Given the description of an element on the screen output the (x, y) to click on. 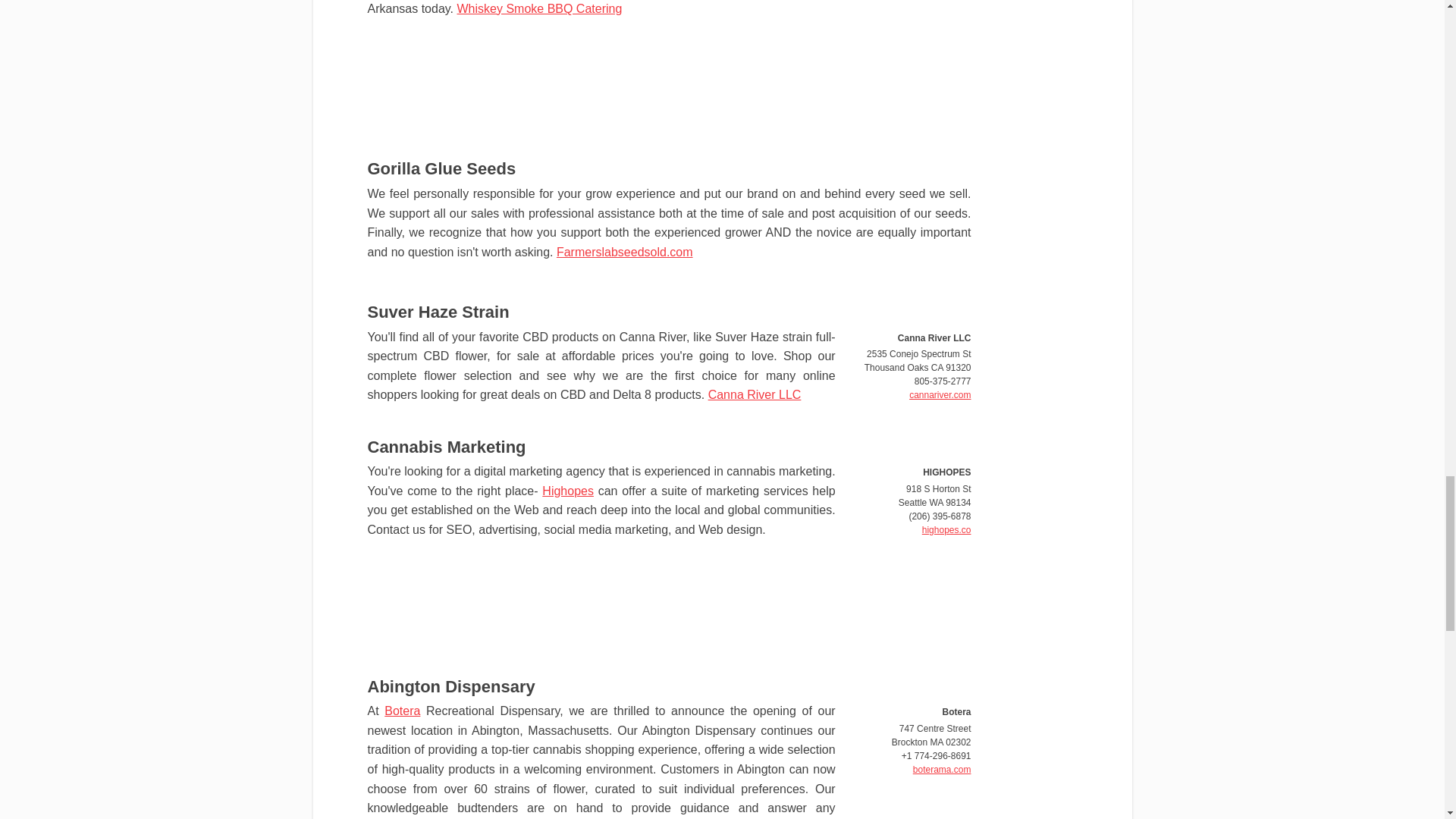
best emergency food supply - Resources 5 (1031, 225)
Abington Dispensary (450, 686)
Cannabis Marketing (445, 445)
Canna River LLC (754, 394)
Botera (402, 710)
Gorilla Glue Seeds (440, 168)
Suver Haze Strain (437, 311)
Gorilla Glue Seeds (440, 168)
Whiskey Smoke BBQ Catering (539, 8)
Suver Haze Strain (437, 311)
